Given the description of an element on the screen output the (x, y) to click on. 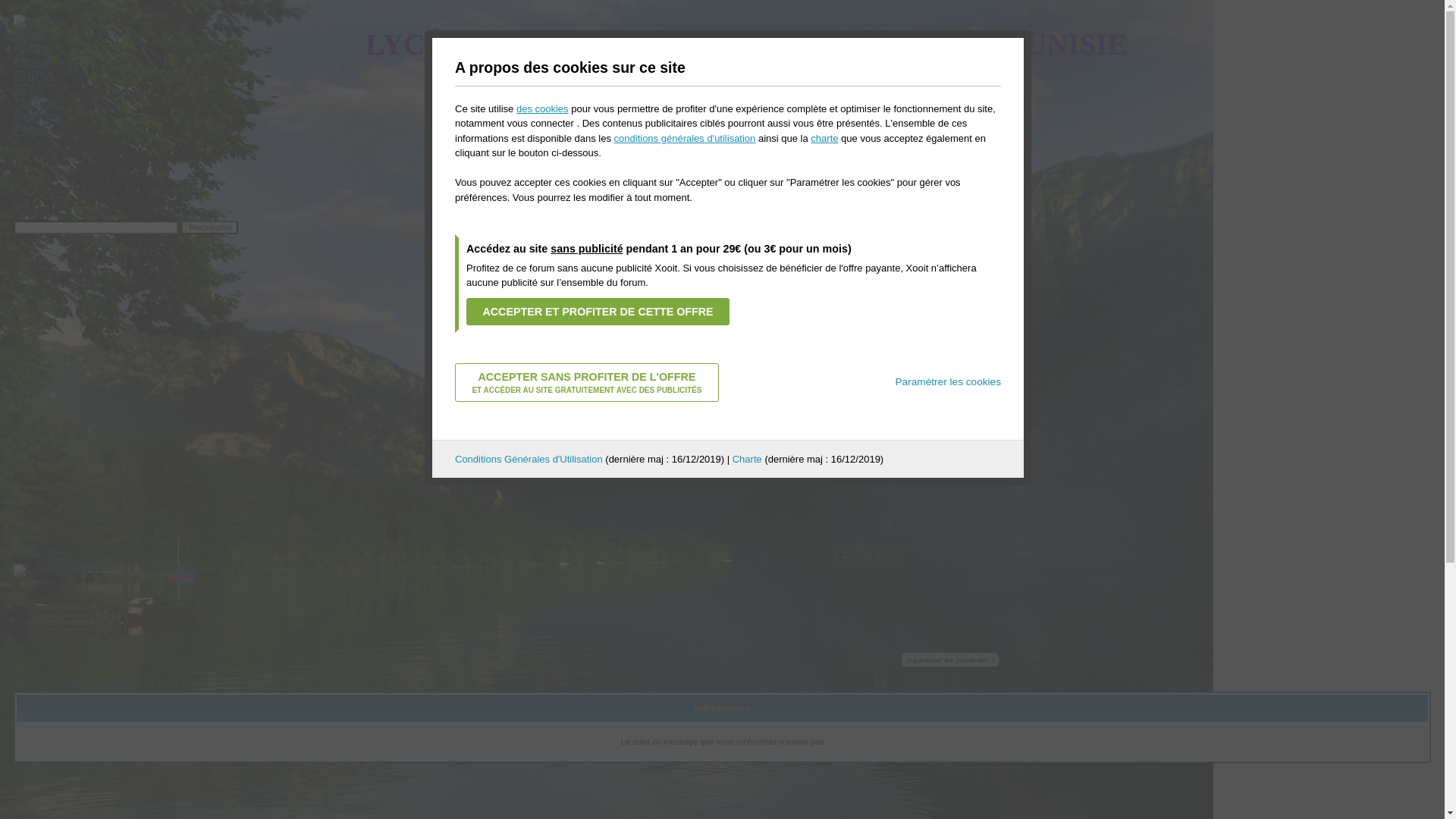
Groupes Element type: text (774, 96)
Rechercher Element type: text (661, 96)
Membres Element type: text (720, 96)
Get this widget! Element type: text (42, 550)
Connexion Element type: text (864, 110)
Advertisement Element type: hover (289, 185)
Widget Element type: text (58, 559)
Gallery Element type: text (86, 559)
Rechercher Element type: text (209, 227)
Profil Element type: text (617, 110)
